Given the description of an element on the screen output the (x, y) to click on. 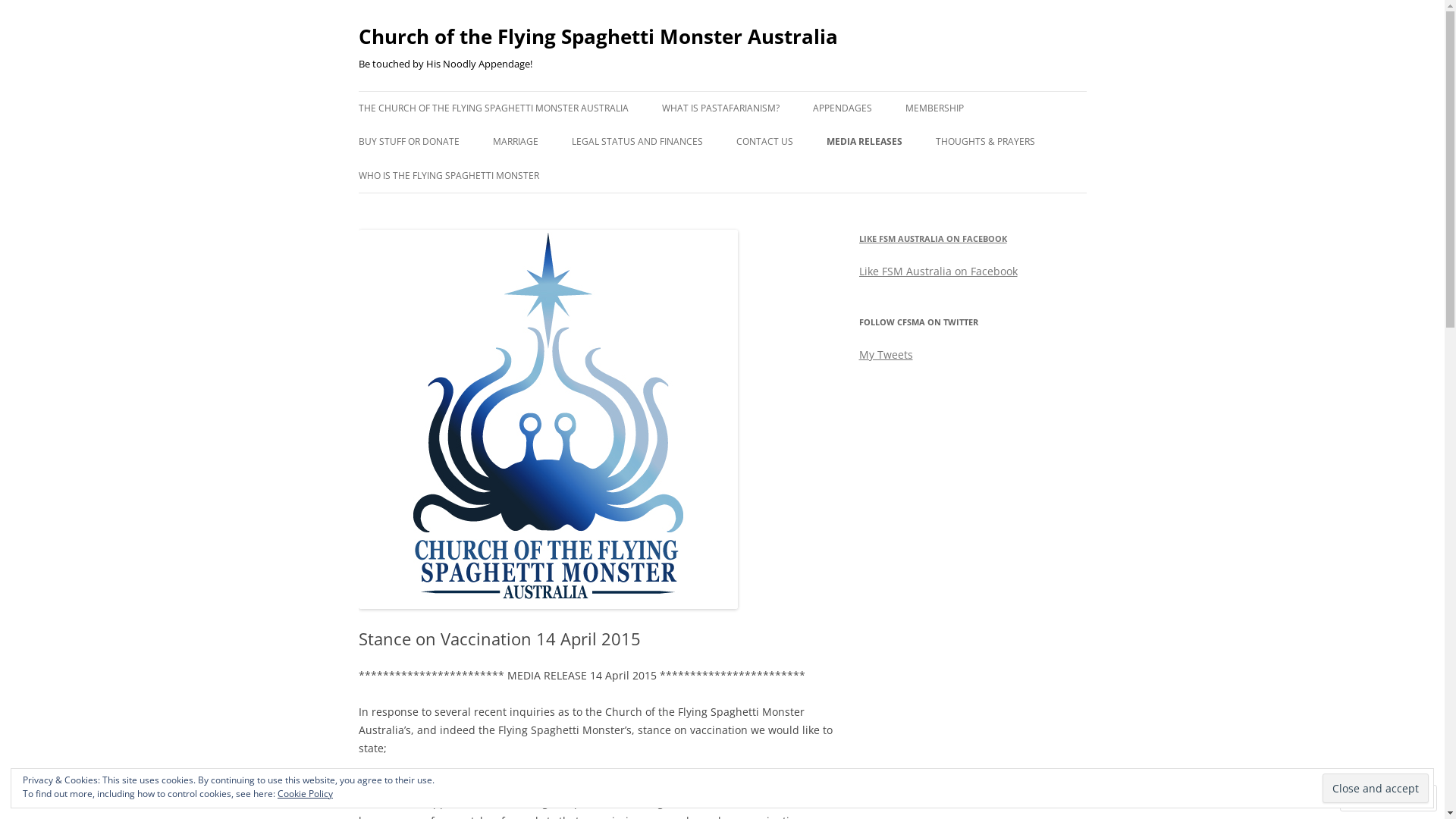
Skip to content Element type: text (721, 91)
Church of the Flying Spaghetti Monster Australia Element type: text (597, 36)
MEMBERSHIP Element type: text (934, 108)
WHAT IS PASTAFARIANISM? Element type: text (719, 108)
BUY STUFF OR DONATE Element type: text (407, 141)
My Tweets Element type: text (885, 354)
WHO IS THE FLYING SPAGHETTI MONSTER Element type: text (447, 175)
THOUGHTS & PRAYERS Element type: text (985, 141)
Close and accept Element type: text (1375, 788)
OUR BELIEFS Element type: text (736, 140)
LIKE FSM AUSTRALIA ON FACEBOOK Element type: text (932, 238)
MEDIA RELEASES Element type: text (864, 141)
LEGAL STATUS AND FINANCES Element type: text (636, 141)
CONTACT US Element type: text (763, 141)
ON 2017. HAPPY NEW YEAR! Element type: text (902, 174)
THE CHURCH OF THE FLYING SPAGHETTI MONSTER AUSTRALIA Element type: text (492, 108)
Like FSM Australia on Facebook Element type: text (937, 270)
Cookie Policy Element type: text (304, 793)
Follow Element type: text (1374, 797)
APPENDAGES Element type: text (842, 108)
MARRIAGE Element type: text (515, 141)
